Given the description of an element on the screen output the (x, y) to click on. 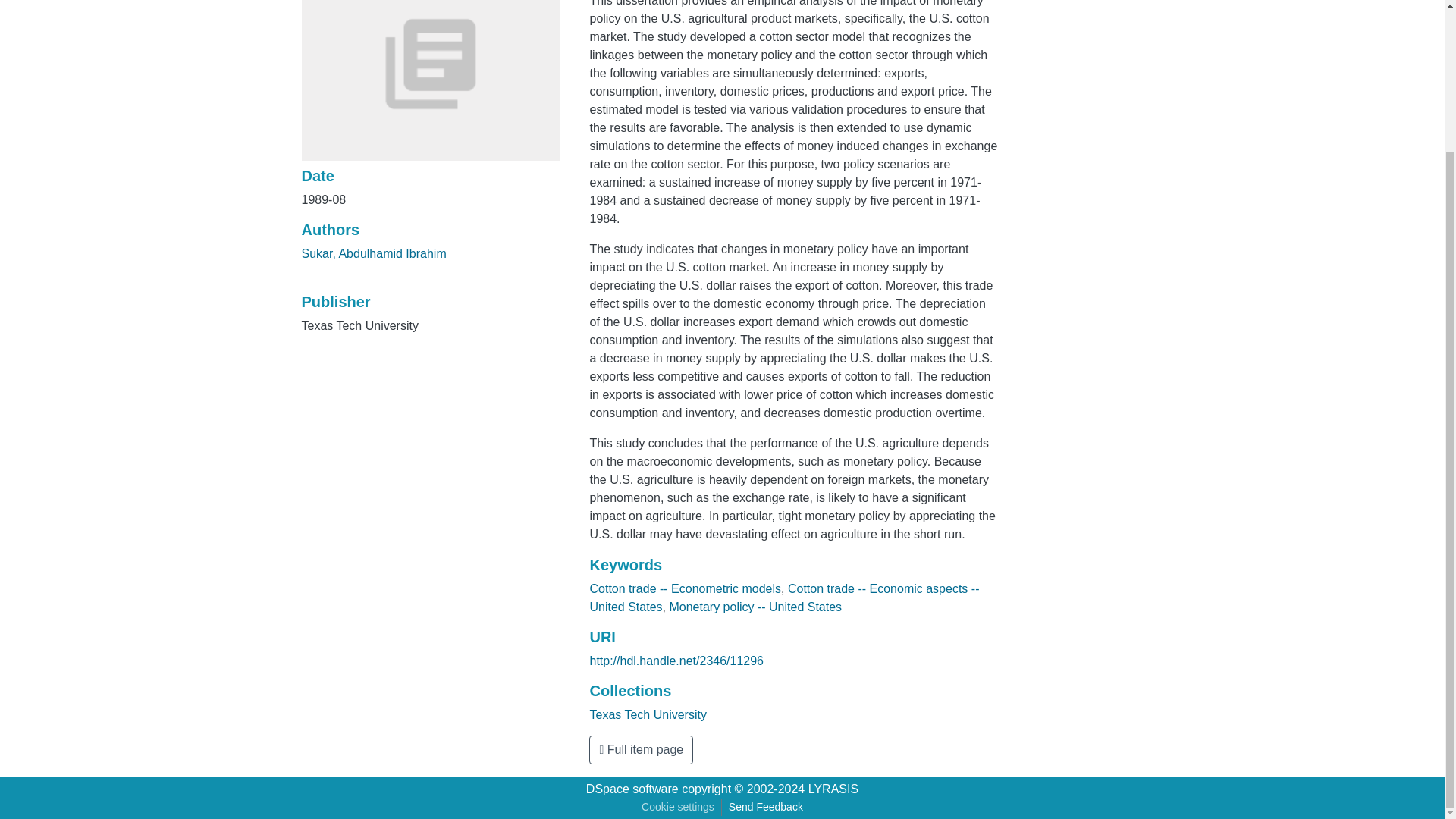
Cookie settings (677, 806)
Cotton trade -- Econometric models (684, 588)
Sukar, Abdulhamid Ibrahim (373, 253)
Texas Tech University (647, 714)
Send Feedback (765, 806)
DSpace software (632, 788)
Cotton trade -- Economic aspects -- United States (783, 597)
LYRASIS (833, 788)
Full item page (641, 749)
Monetary policy -- United States (754, 606)
